Given the description of an element on the screen output the (x, y) to click on. 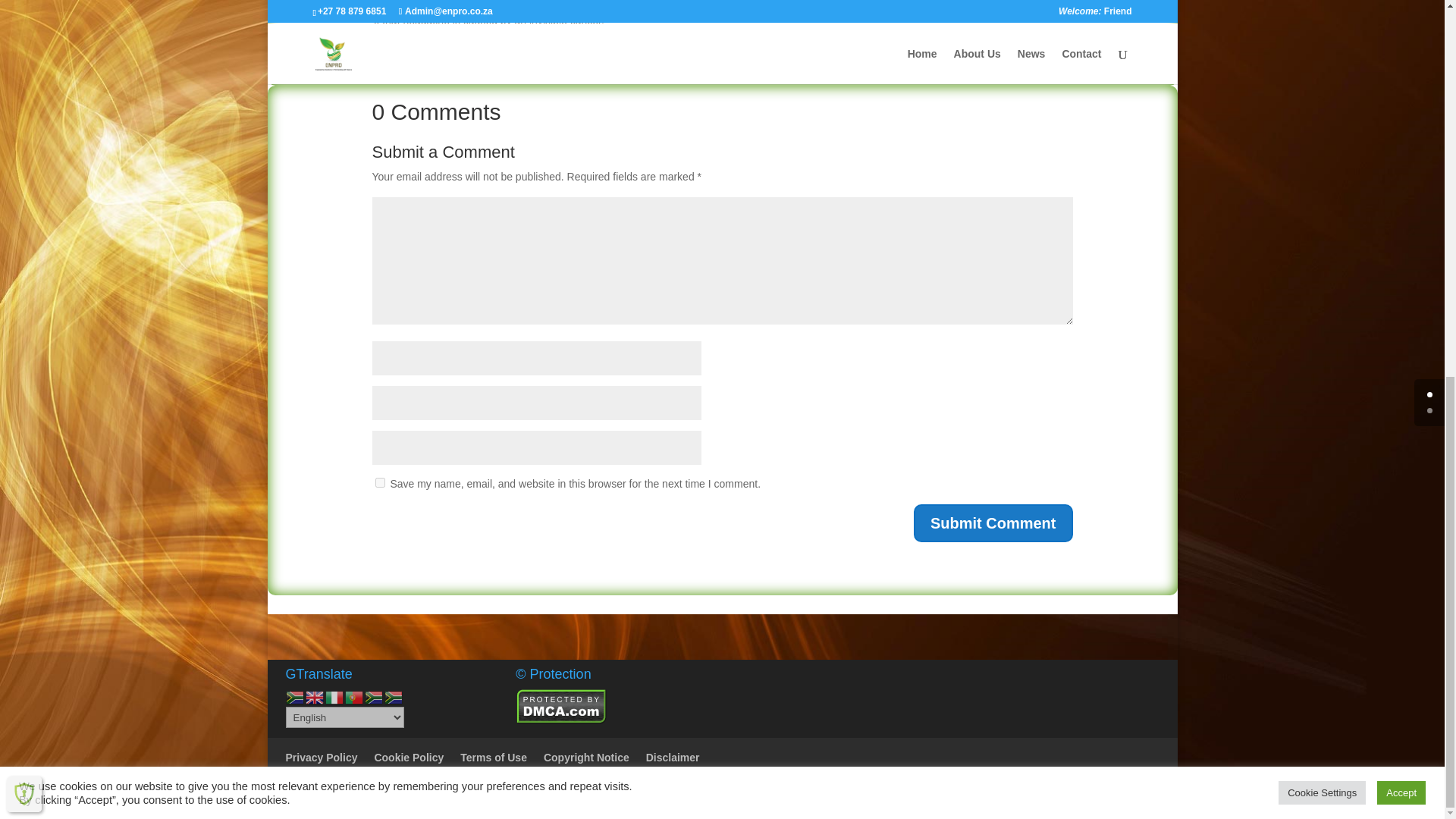
Copyright Notice (585, 757)
Gerhard (654, 797)
DMCA.com Protection Status (561, 720)
Italian (333, 696)
Cookie Settings (1321, 96)
Kormorant (551, 61)
Portuguese (353, 696)
Disclaimer (673, 757)
Xhosa (374, 696)
Terms of Use (493, 757)
yes (379, 482)
Afrikaans (294, 696)
Zulu (393, 696)
Shield Security (23, 98)
Privacy Policy (320, 757)
